Given the description of an element on the screen output the (x, y) to click on. 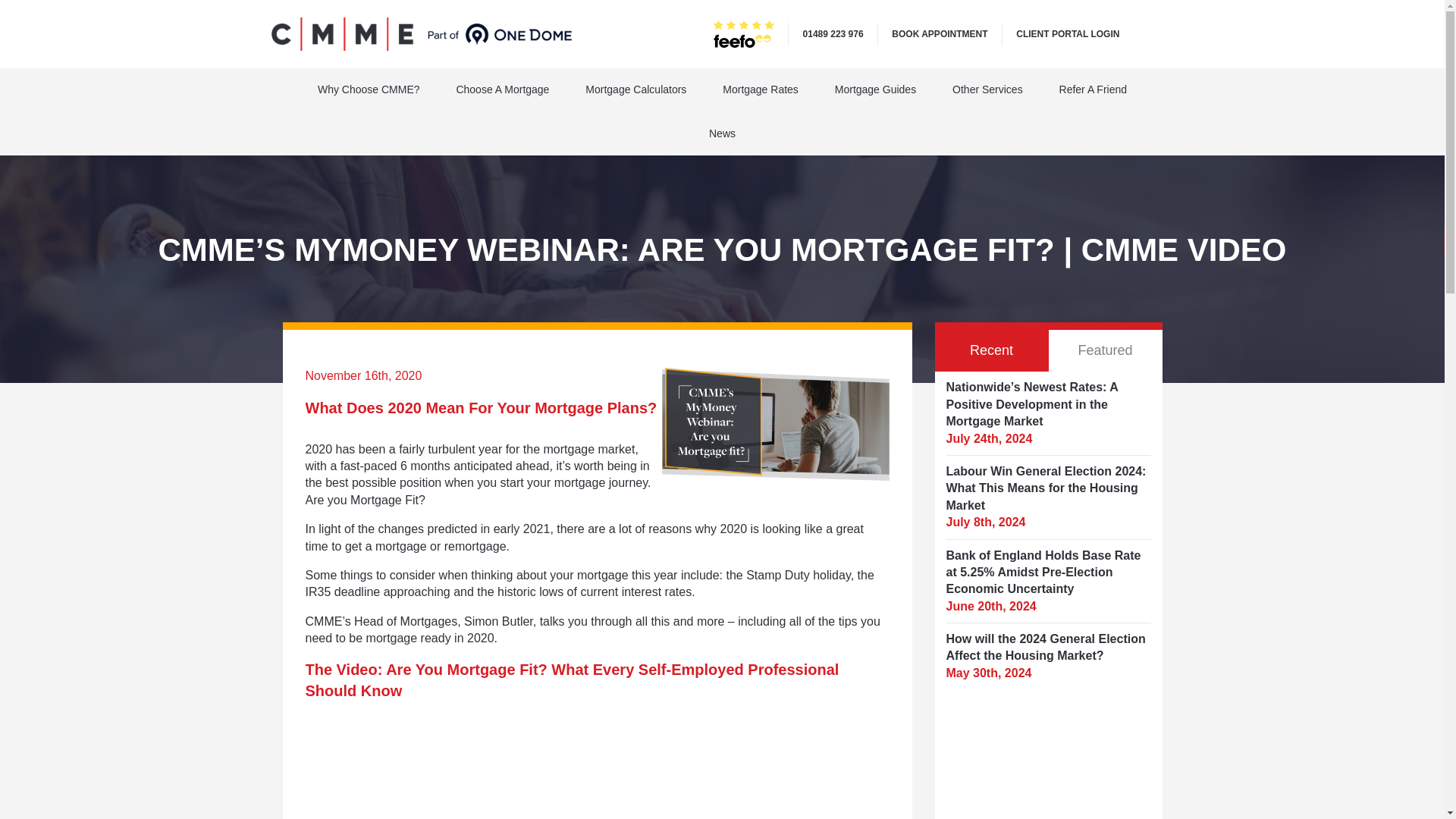
Choose A Mortgage (502, 89)
BOOK APPOINTMENT (939, 33)
01489 223 976 (833, 33)
Why Choose CMME? (368, 89)
CLIENT PORTAL LOGIN (1067, 33)
